Given the description of an element on the screen output the (x, y) to click on. 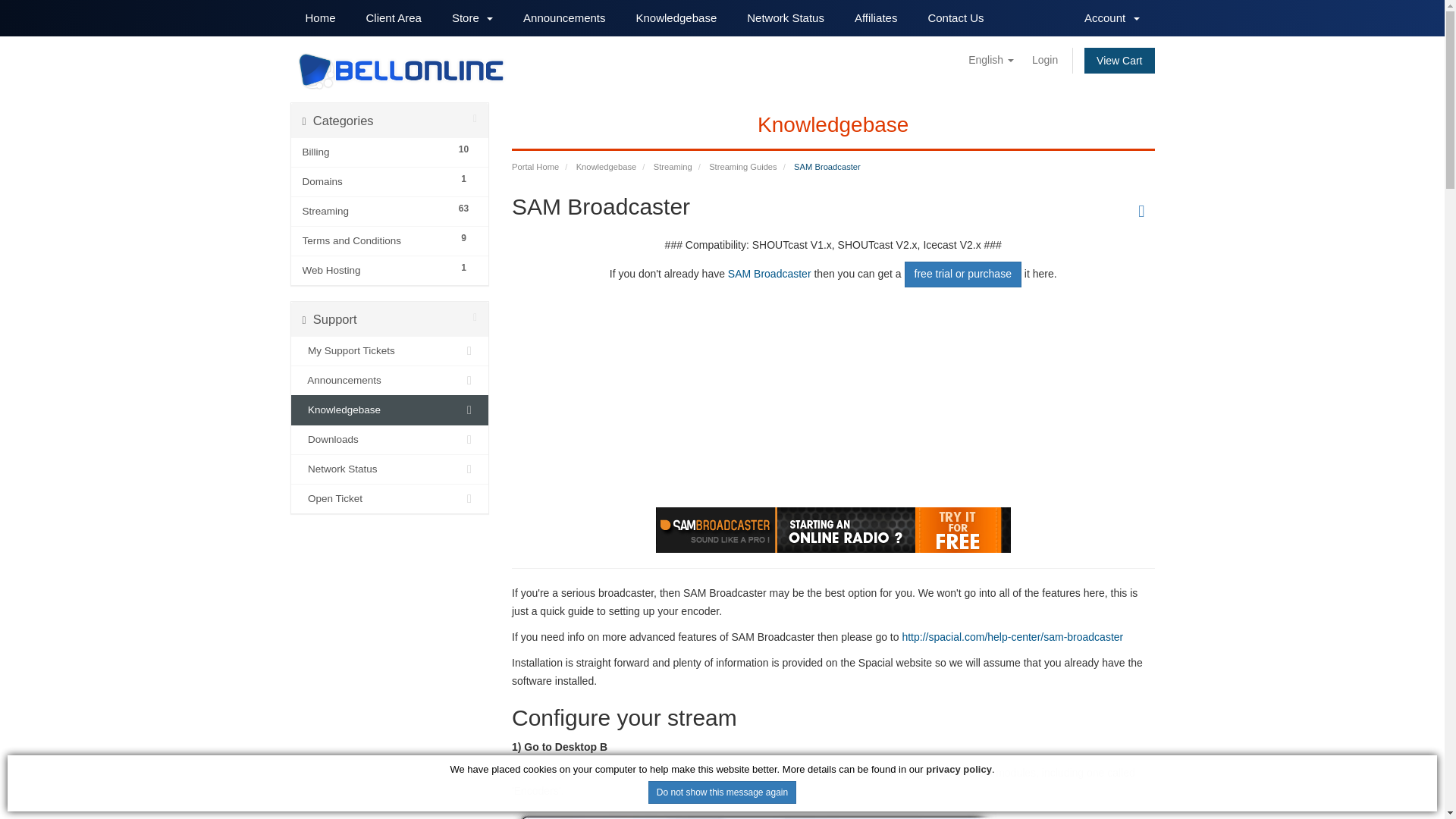
Terms and Conditions (375, 240)
English (991, 59)
Do not show this message again (721, 792)
Login (1045, 59)
Billing (375, 152)
Home (319, 18)
Web Hosting (375, 270)
Streaming (375, 211)
View Cart (1119, 60)
Domains (375, 181)
Store   (472, 18)
Client Area (393, 18)
